Given the description of an element on the screen output the (x, y) to click on. 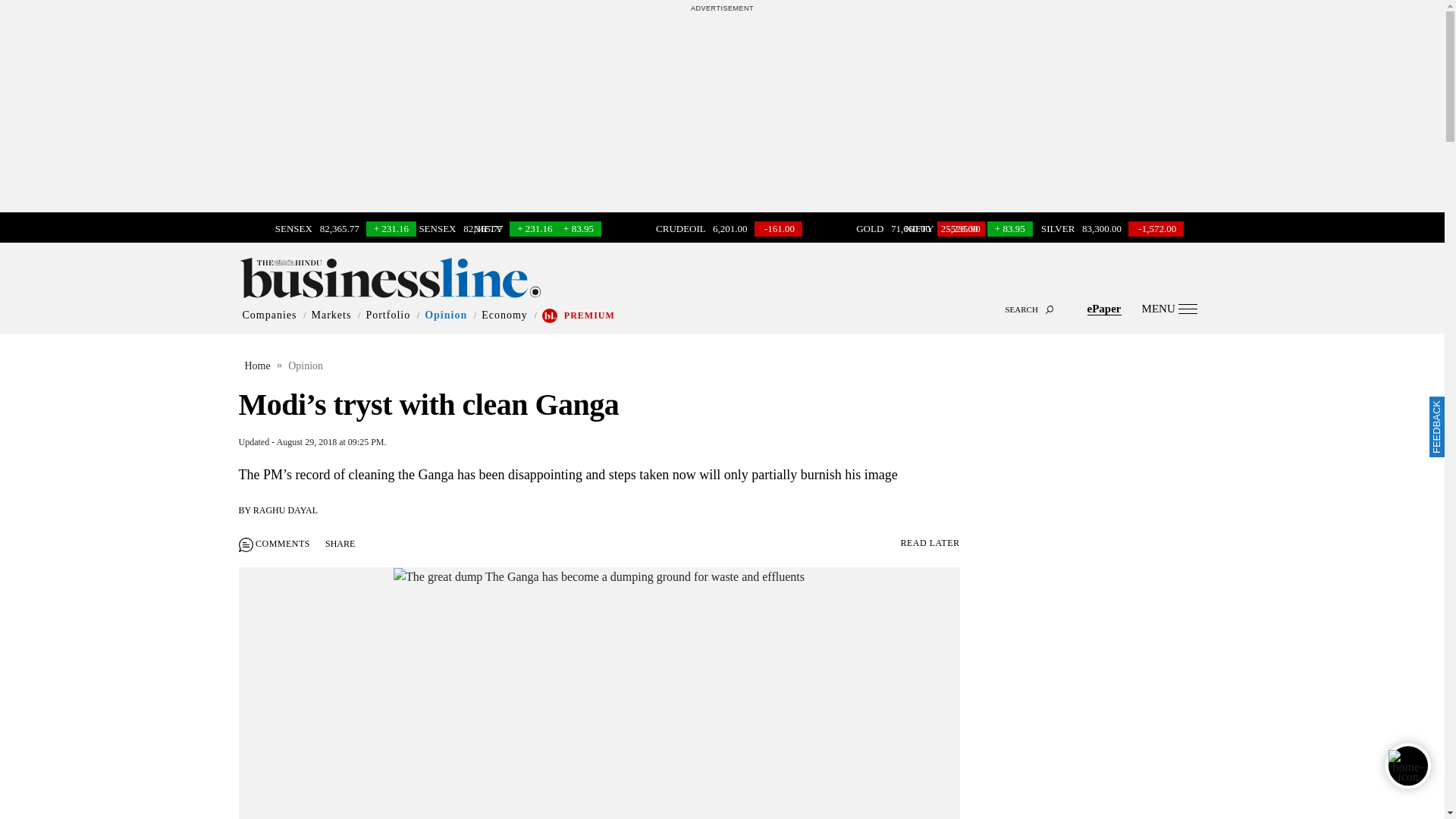
Companies (270, 315)
Opinion (446, 315)
PREMIUM (589, 315)
Markets (330, 315)
ePaper (1104, 308)
Portfolio (387, 315)
SEARCH (721, 295)
Economy (504, 315)
MENU (1168, 308)
